Given the description of an element on the screen output the (x, y) to click on. 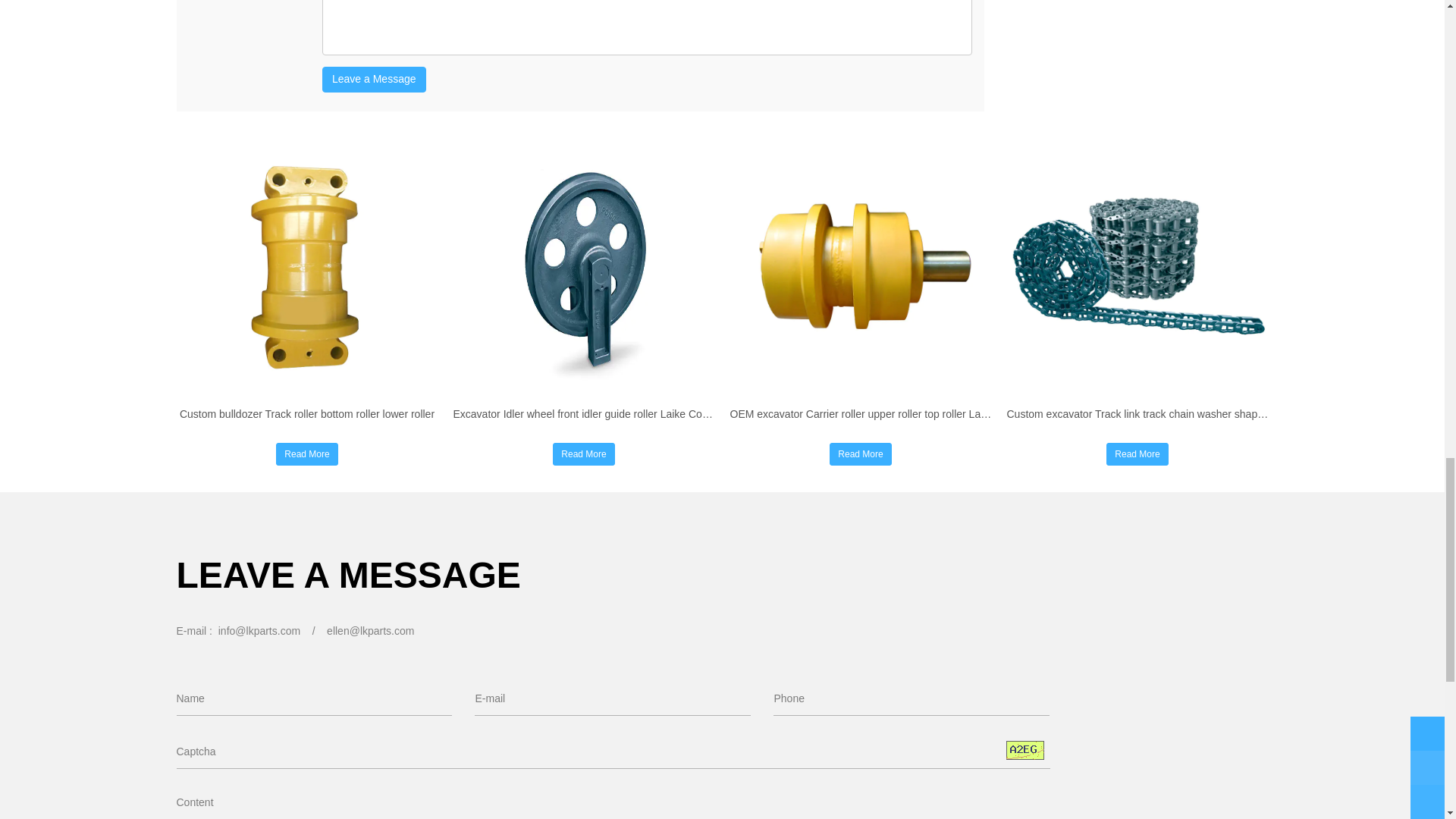
Leave a Message (373, 79)
